Given the description of an element on the screen output the (x, y) to click on. 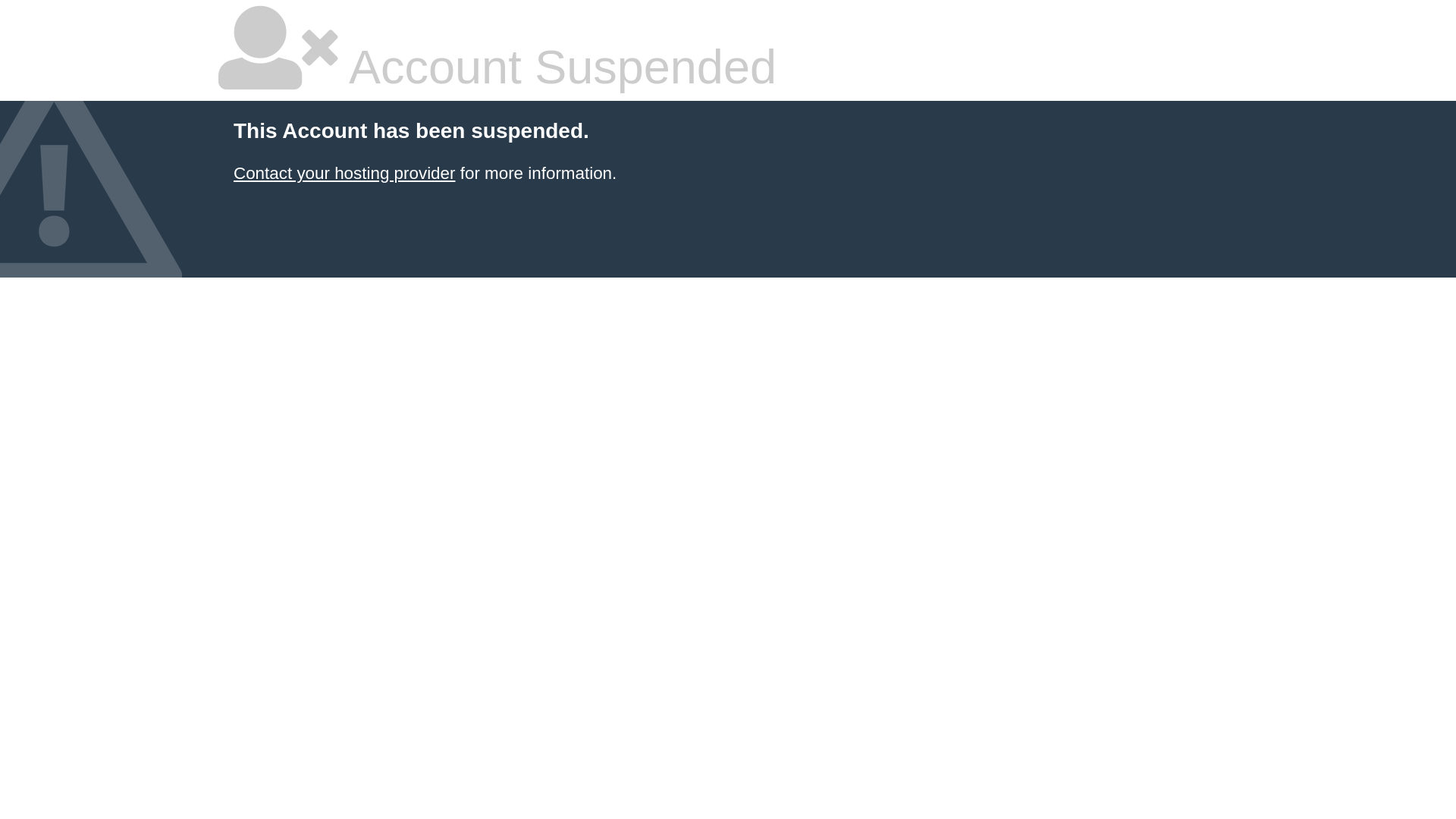
Contact your hosting provider Element type: text (344, 172)
